Given the description of an element on the screen output the (x, y) to click on. 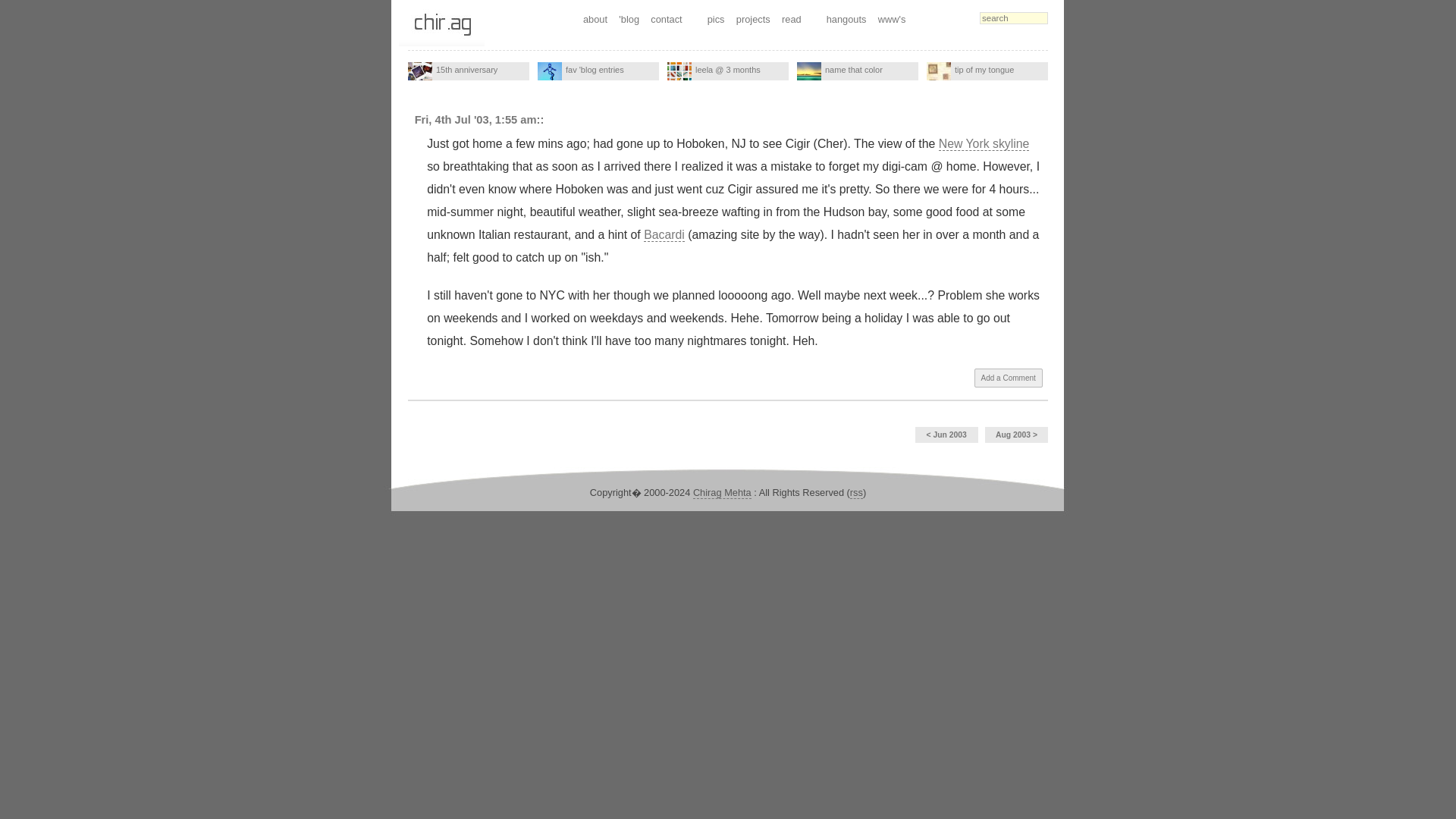
fav 'blog entries (549, 71)
pics (715, 19)
read (791, 19)
about (594, 19)
fav 'blog entries (598, 71)
hangouts (846, 19)
chir.ag (441, 24)
projects (753, 19)
15th anniversary (468, 71)
name that color (808, 71)
search (1013, 18)
'blog (628, 19)
www's (891, 19)
15th anniversary (419, 71)
tip of my tongue (938, 71)
